Given the description of an element on the screen output the (x, y) to click on. 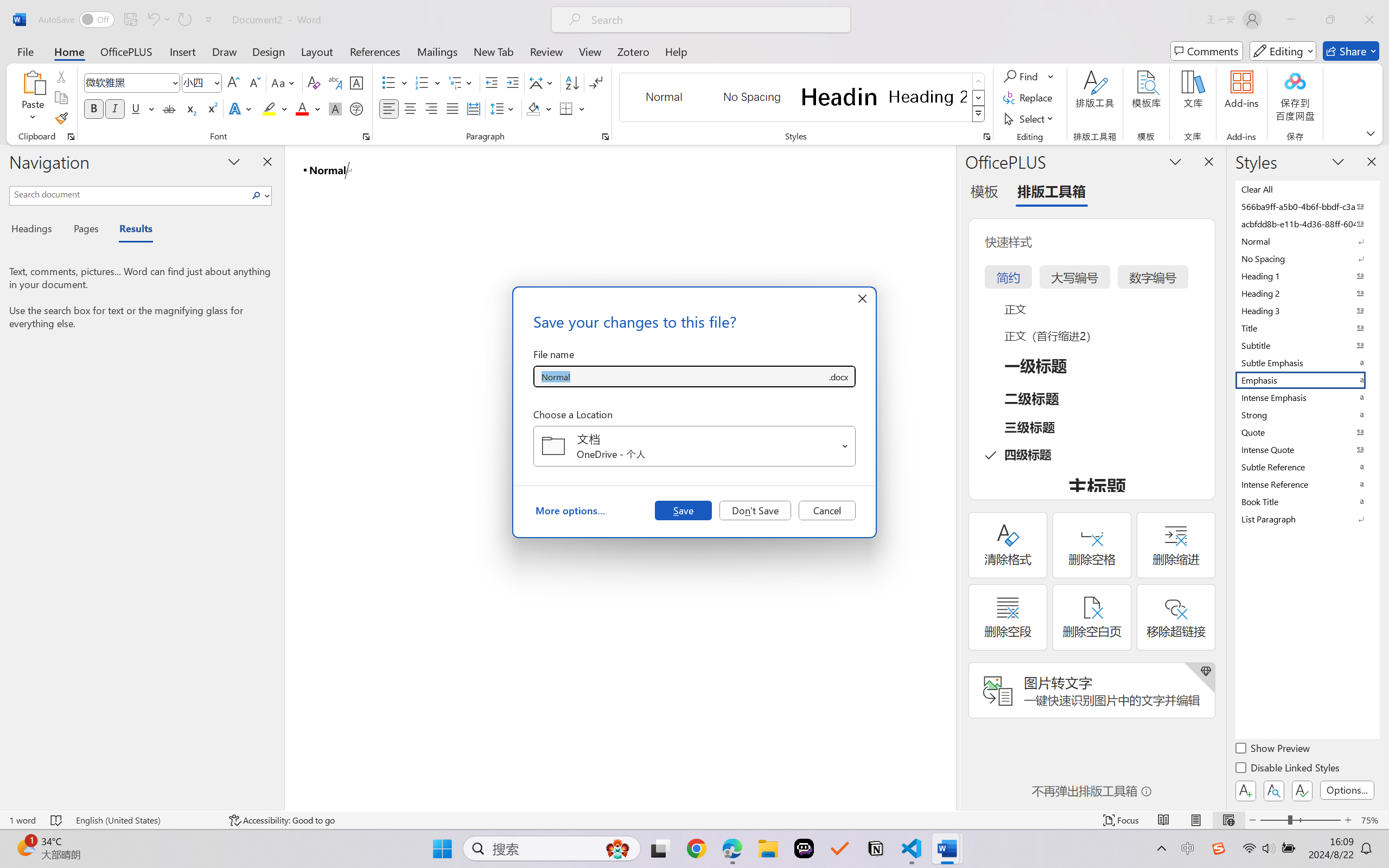
Help (675, 51)
Justify (452, 108)
Phonetic Guide... (334, 82)
Options... (1346, 789)
Bold (94, 108)
Paste (33, 97)
Focus  (1121, 819)
Numbering (421, 82)
Normal (1306, 240)
Asian Layout (542, 82)
Undo Style (152, 19)
No Spacing (1306, 258)
